Given the description of an element on the screen output the (x, y) to click on. 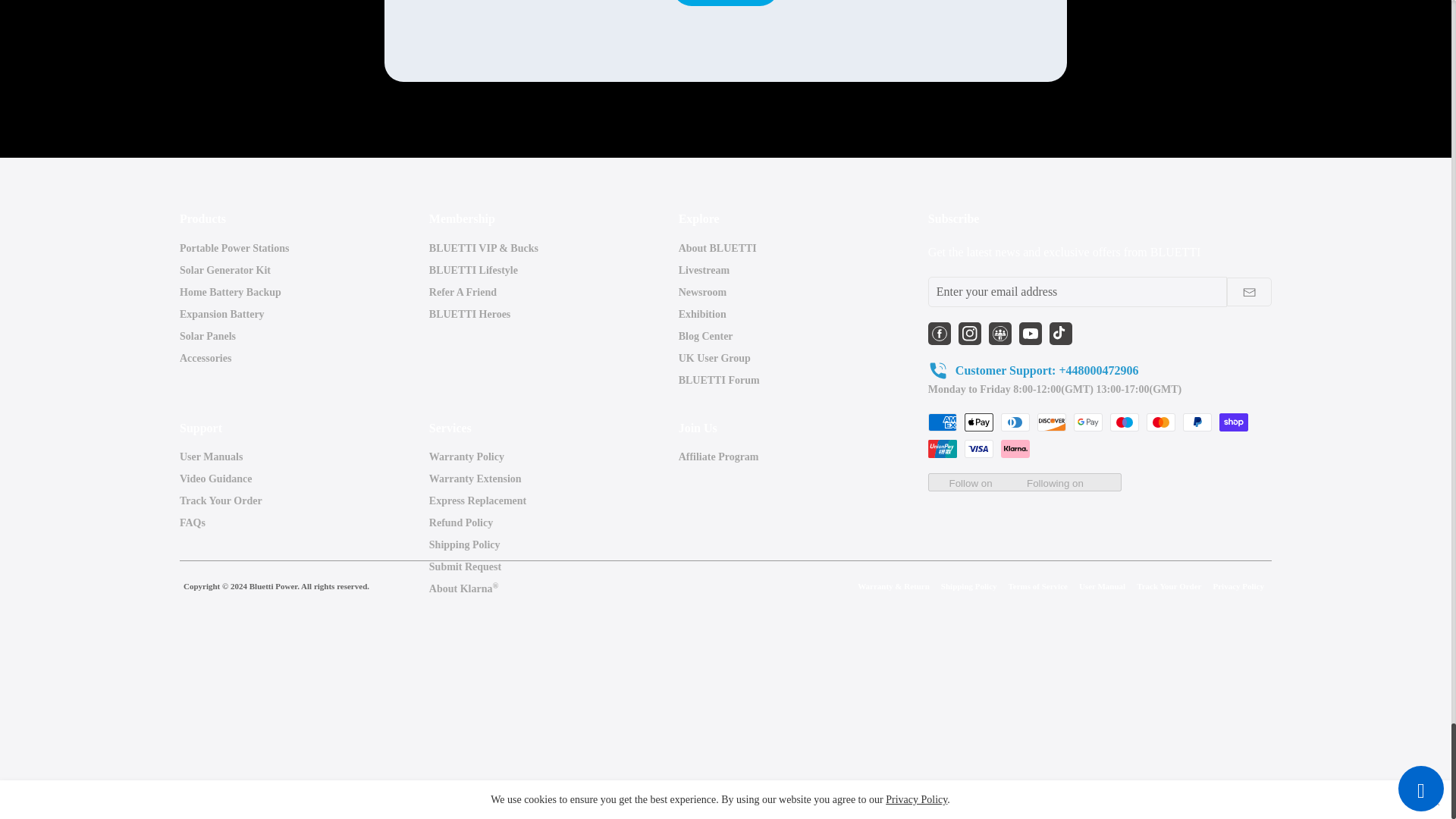
American Express (942, 422)
Diners Club (1015, 422)
Apple Pay (977, 422)
Maestro (1123, 422)
Mastercard (1160, 422)
Discover (1050, 422)
Google Pay (1088, 422)
